Given the description of an element on the screen output the (x, y) to click on. 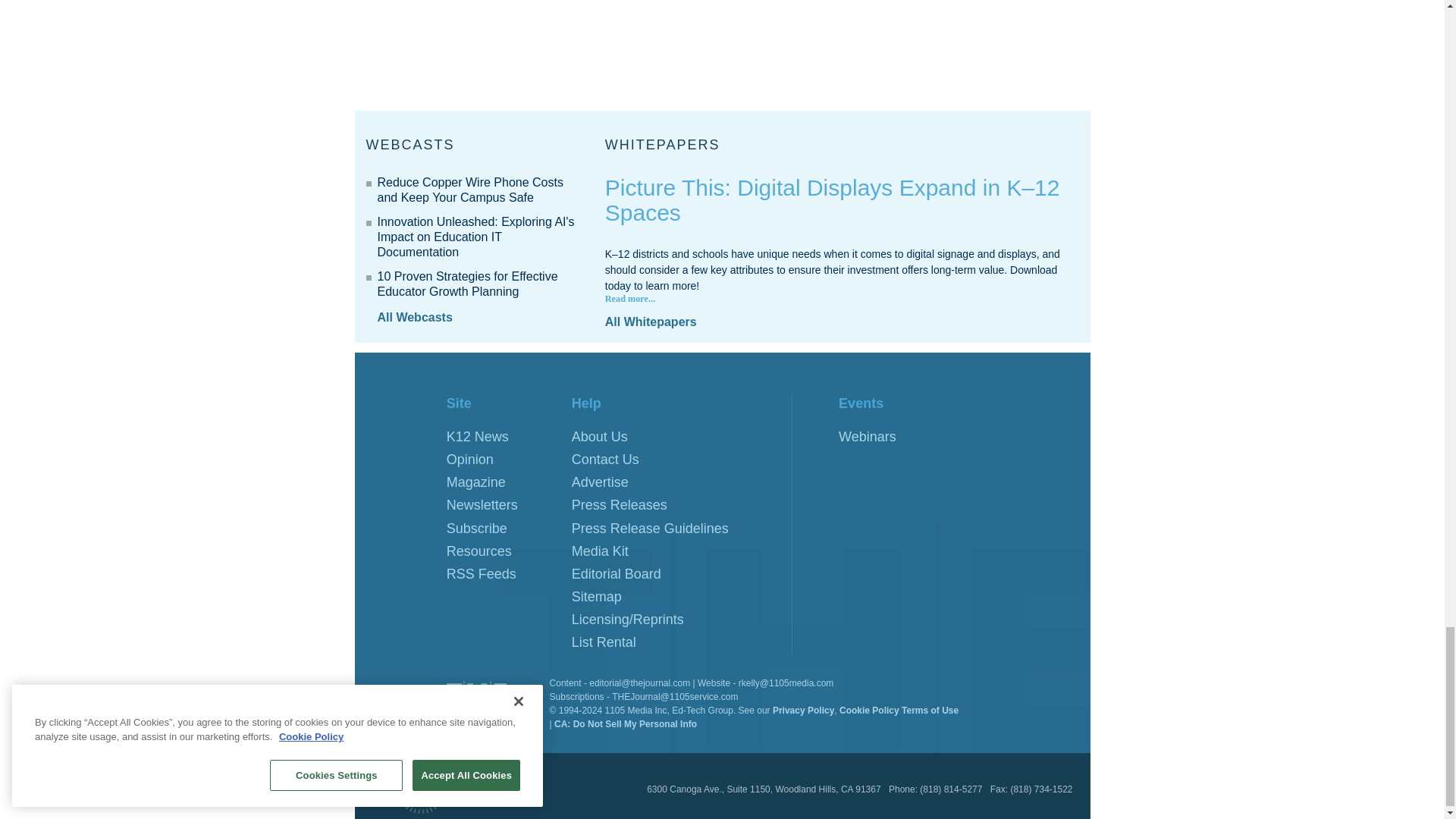
Converge360 (430, 783)
3rd party ad content (975, 49)
